Given the description of an element on the screen output the (x, y) to click on. 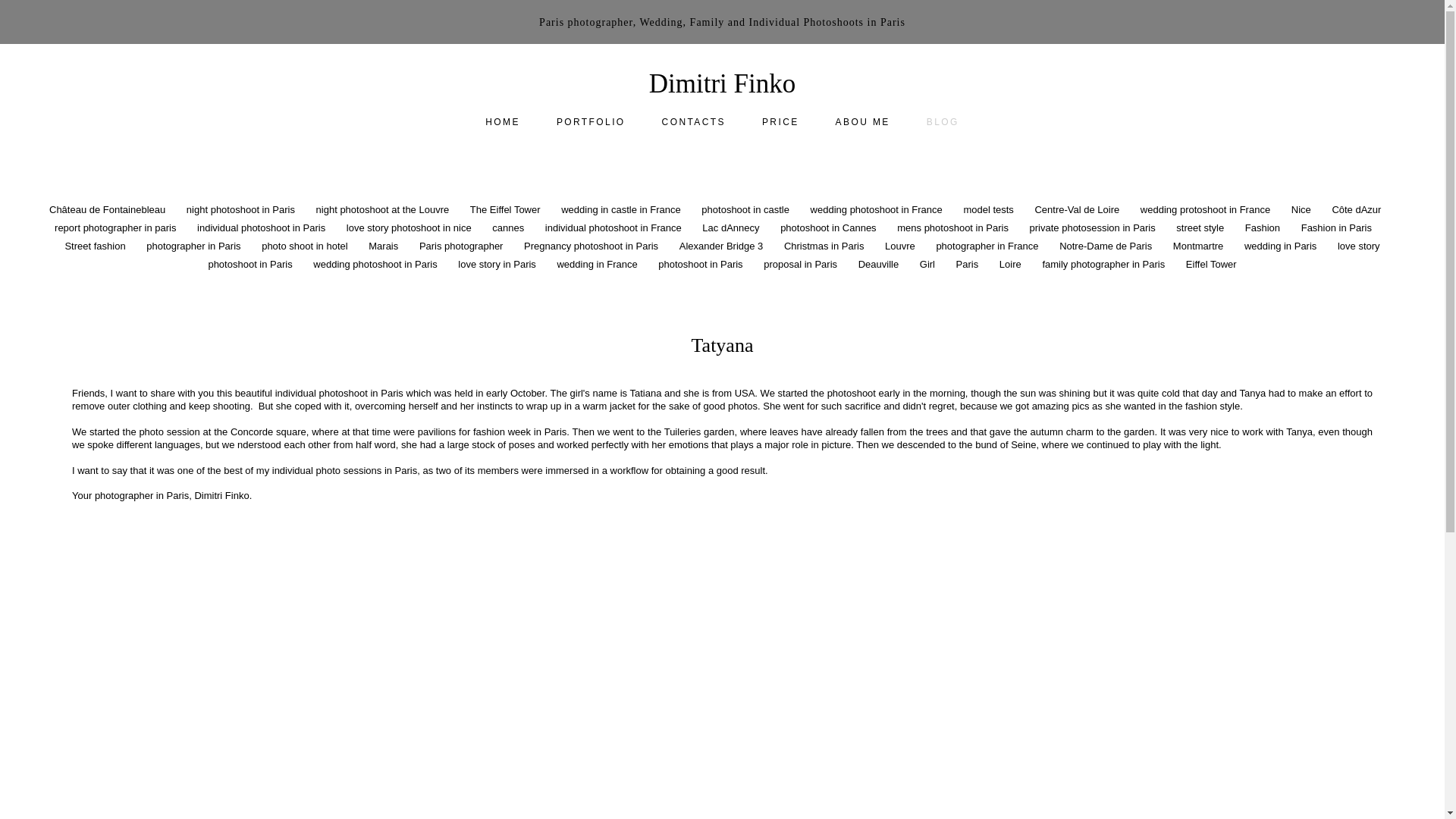
The Eiffel Tower (506, 209)
ABOU ME (862, 121)
night photoshoot in Paris (242, 209)
PORTFOLIO (591, 121)
night photoshoot at the Louvre (383, 209)
Dimitri Finko (722, 83)
wedding photoshoot in France (877, 209)
wedding in castle in France (621, 209)
photoshoot in castle (746, 209)
model tests (989, 209)
CONTACTS (693, 121)
HOME (501, 121)
PRICE (780, 121)
BLOG (942, 121)
